Given the description of an element on the screen output the (x, y) to click on. 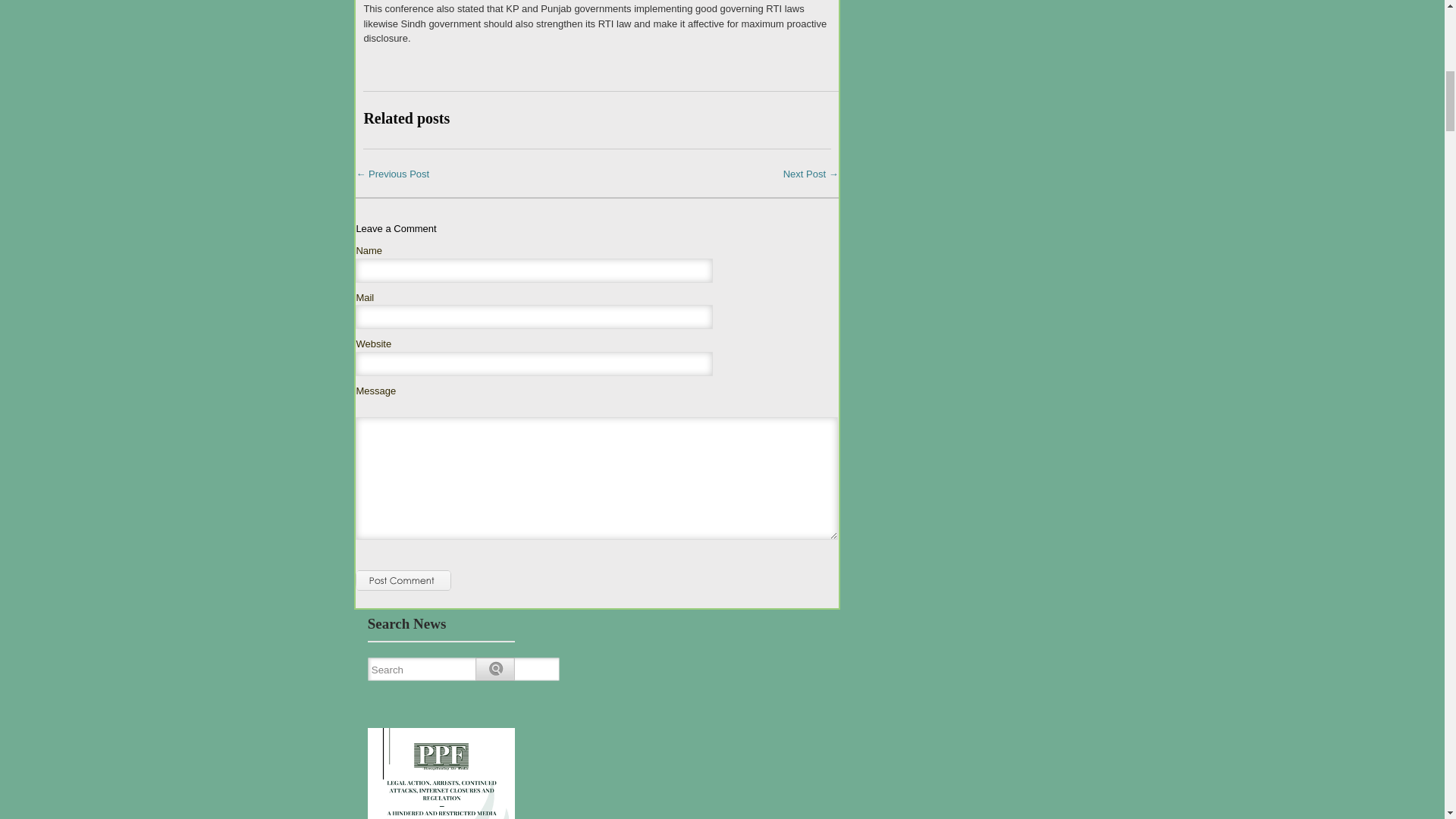
Submit (403, 581)
Search (466, 669)
Submit (403, 581)
